Given the description of an element on the screen output the (x, y) to click on. 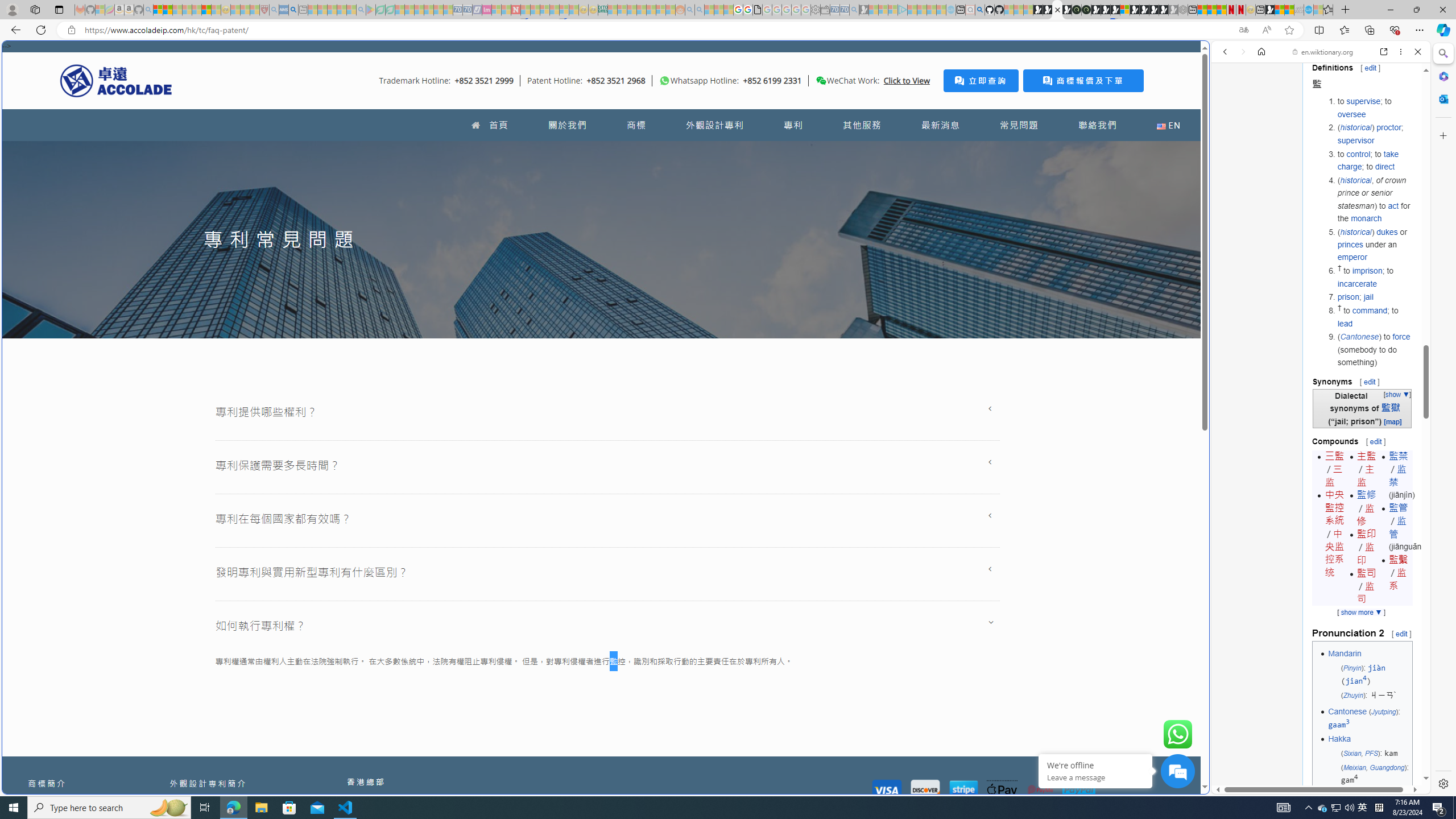
lead (1344, 323)
historical (1355, 231)
to control; to take charge; to direct (1374, 160)
Class: desktop (821, 80)
